Given the description of an element on the screen output the (x, y) to click on. 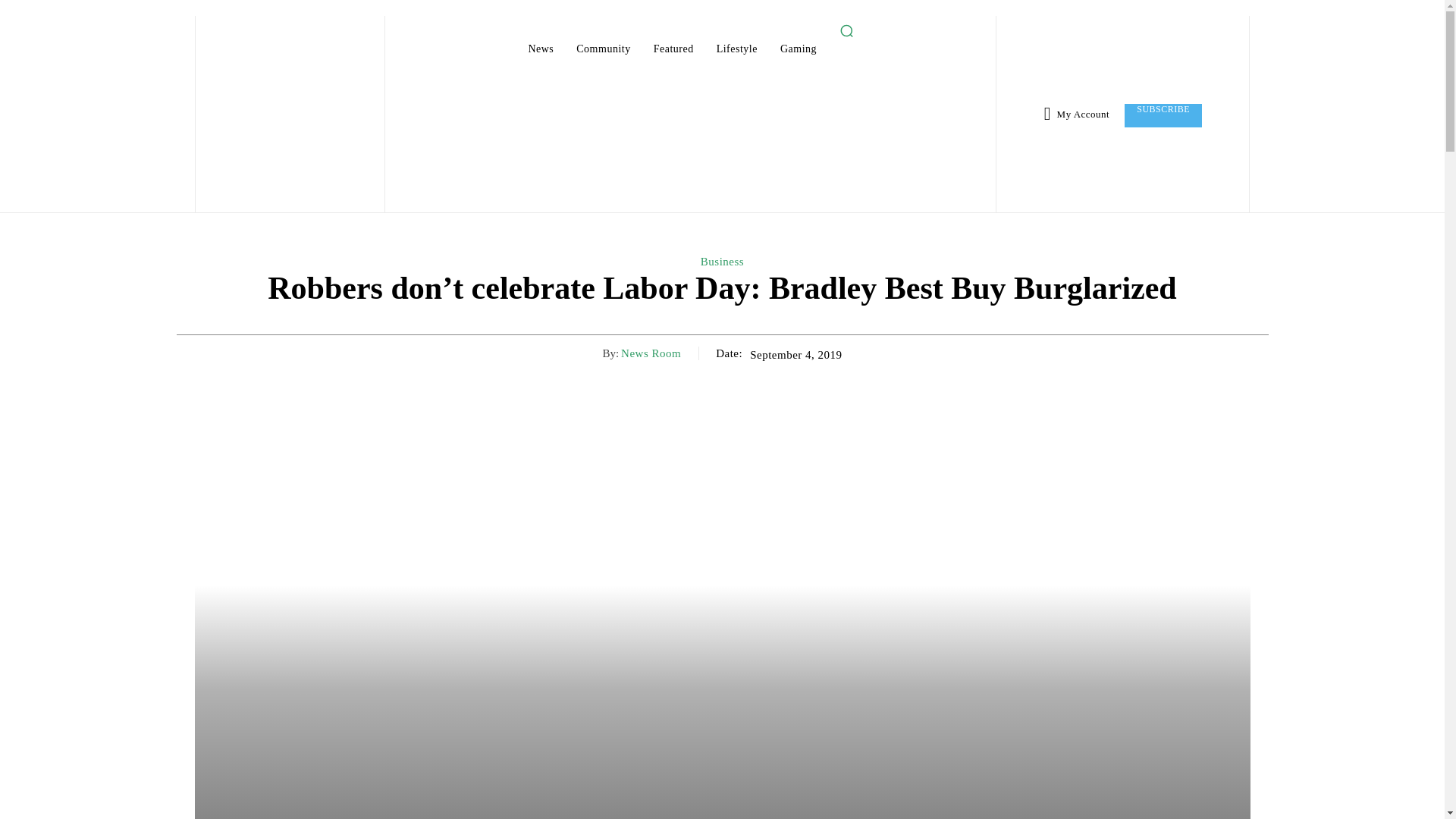
Subscribe (1163, 115)
